Given the description of an element on the screen output the (x, y) to click on. 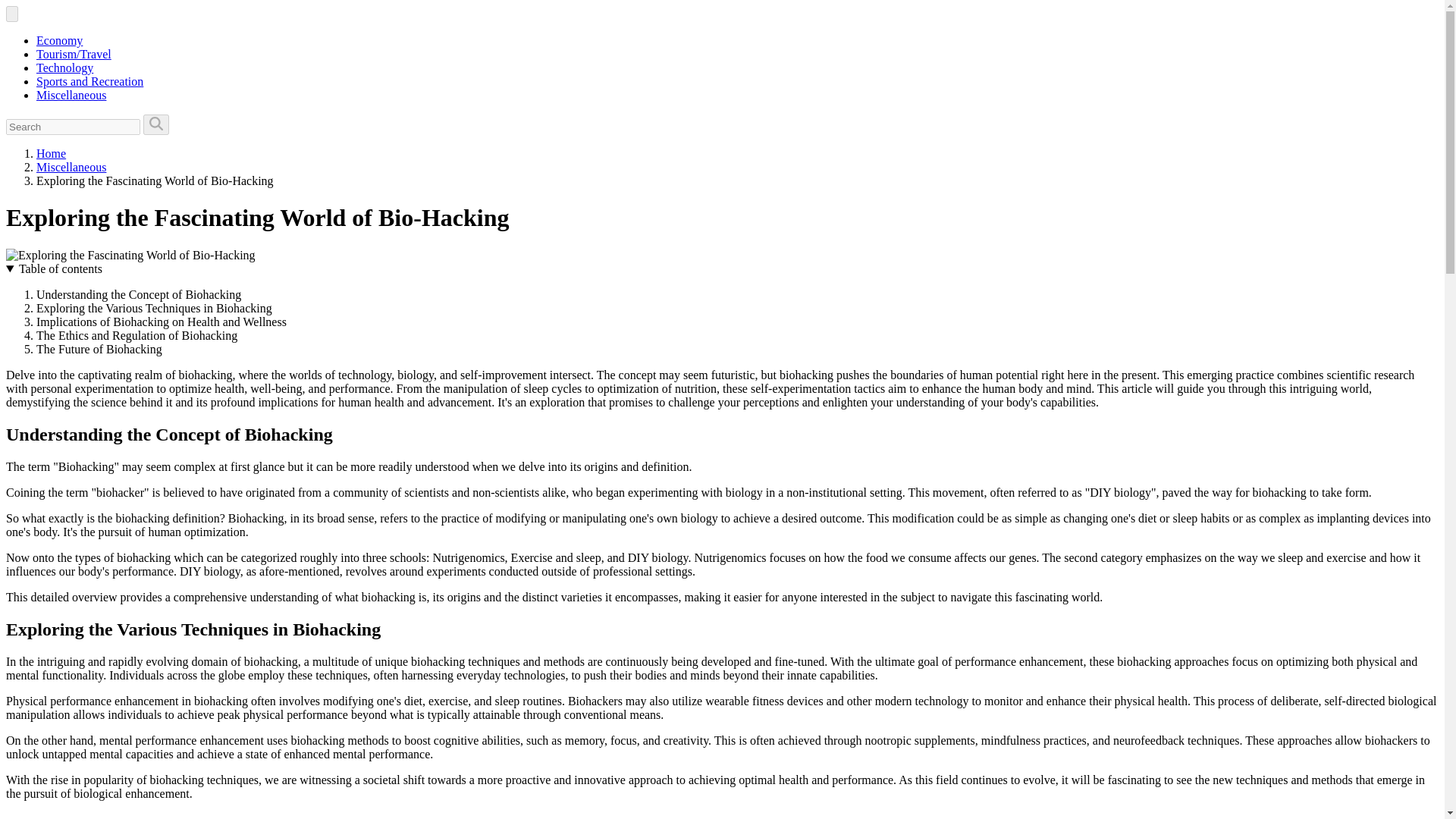
The Ethics and Regulation of Biohacking (136, 335)
Sports and Recreation (89, 81)
Understanding the Concept of Biohacking (138, 294)
Exploring the Various Techniques in Biohacking (154, 308)
Miscellaneous (71, 166)
Miscellaneous (71, 94)
The Future of Biohacking (98, 349)
Implications of Biohacking on Health and Wellness (161, 321)
Home (50, 153)
Economy (59, 40)
Technology (64, 67)
Miscellaneous (71, 166)
